Given the description of an element on the screen output the (x, y) to click on. 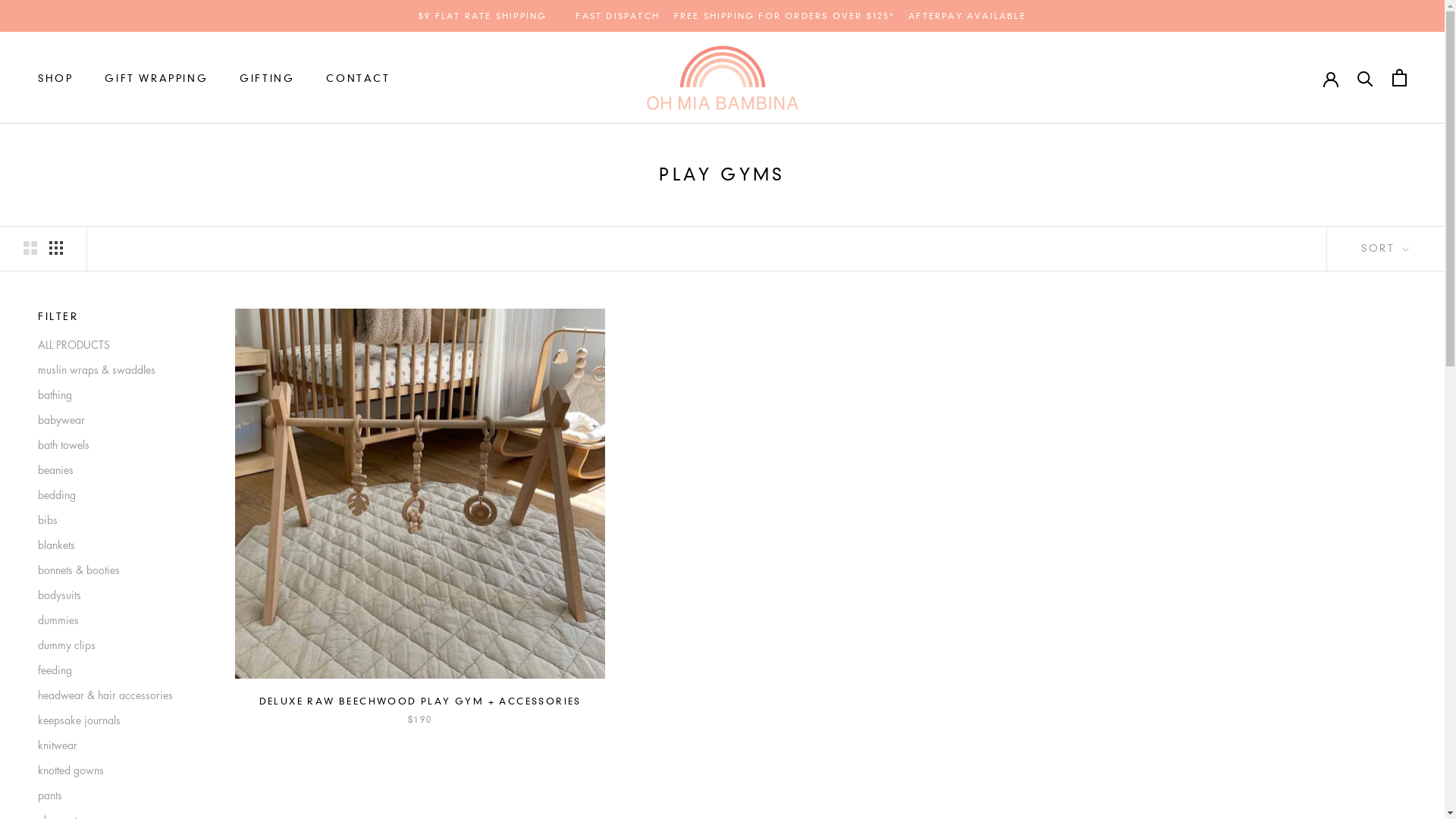
feeding Element type: text (113, 669)
muslin wraps & swaddles Element type: text (113, 369)
SORT Element type: text (1385, 247)
dummies Element type: text (113, 619)
pants Element type: text (113, 795)
babywear Element type: text (113, 419)
beanies Element type: text (113, 469)
keepsake journals Element type: text (113, 720)
FILTER Element type: text (113, 316)
bath towels Element type: text (113, 444)
DELUXE RAW BEECHWOOD PLAY GYM + ACCESSORIES Element type: text (420, 700)
bodysuits Element type: text (113, 594)
bedding Element type: text (113, 494)
bathing Element type: text (113, 394)
headwear & hair accessories Element type: text (113, 694)
dummy clips Element type: text (113, 644)
SHOP
SHOP Element type: text (54, 78)
blankets Element type: text (113, 544)
CONTACT
CONTACT Element type: text (357, 78)
knitwear Element type: text (113, 745)
ALL PRODUCTS Element type: text (113, 344)
bonnets & booties Element type: text (113, 569)
knotted gowns Element type: text (113, 770)
bibs Element type: text (113, 519)
GIFTING Element type: text (266, 78)
GIFT WRAPPING
GIFT WRAPPING Element type: text (155, 78)
